Given the description of an element on the screen output the (x, y) to click on. 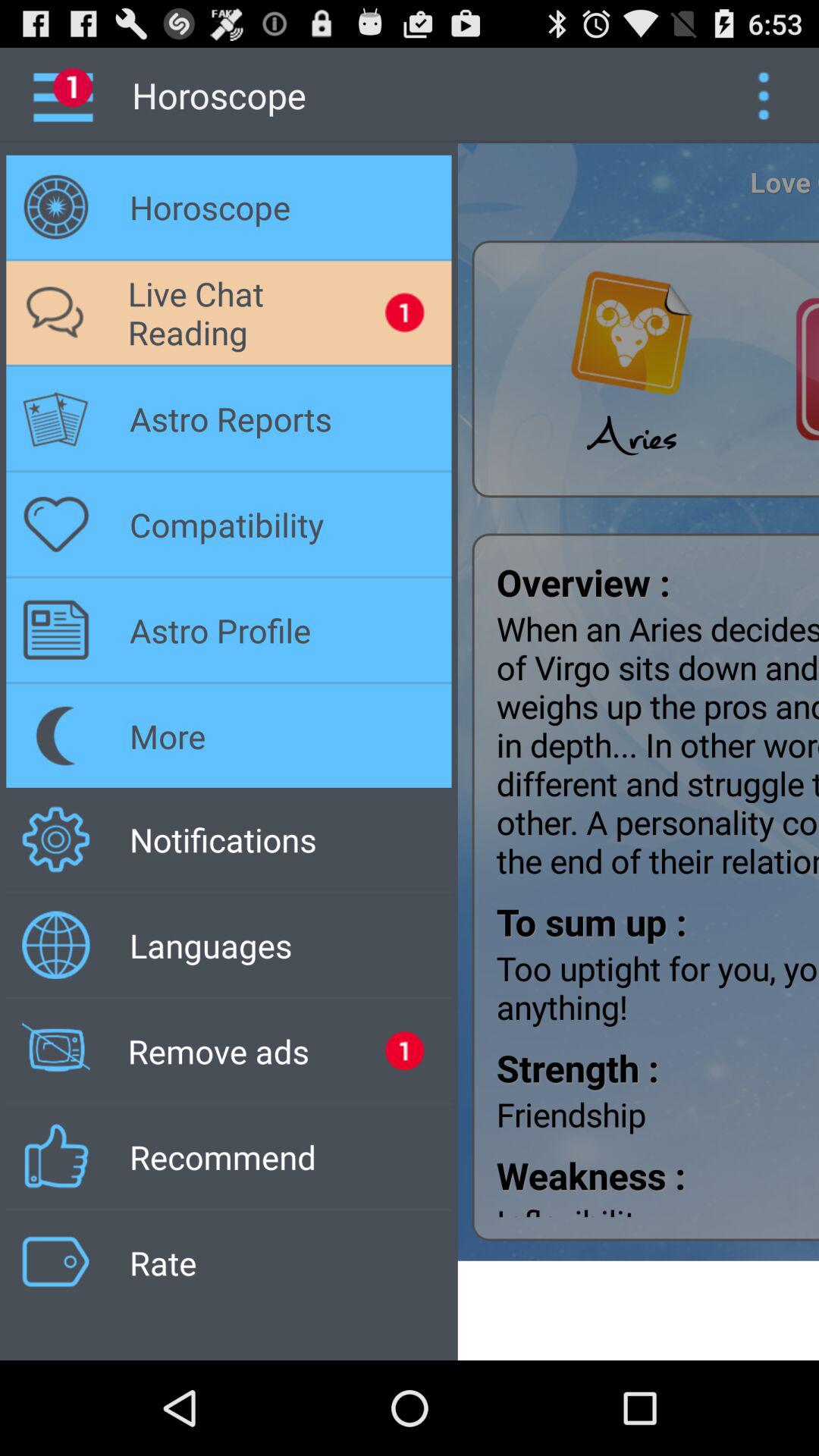
toggle option (763, 95)
